Given the description of an element on the screen output the (x, y) to click on. 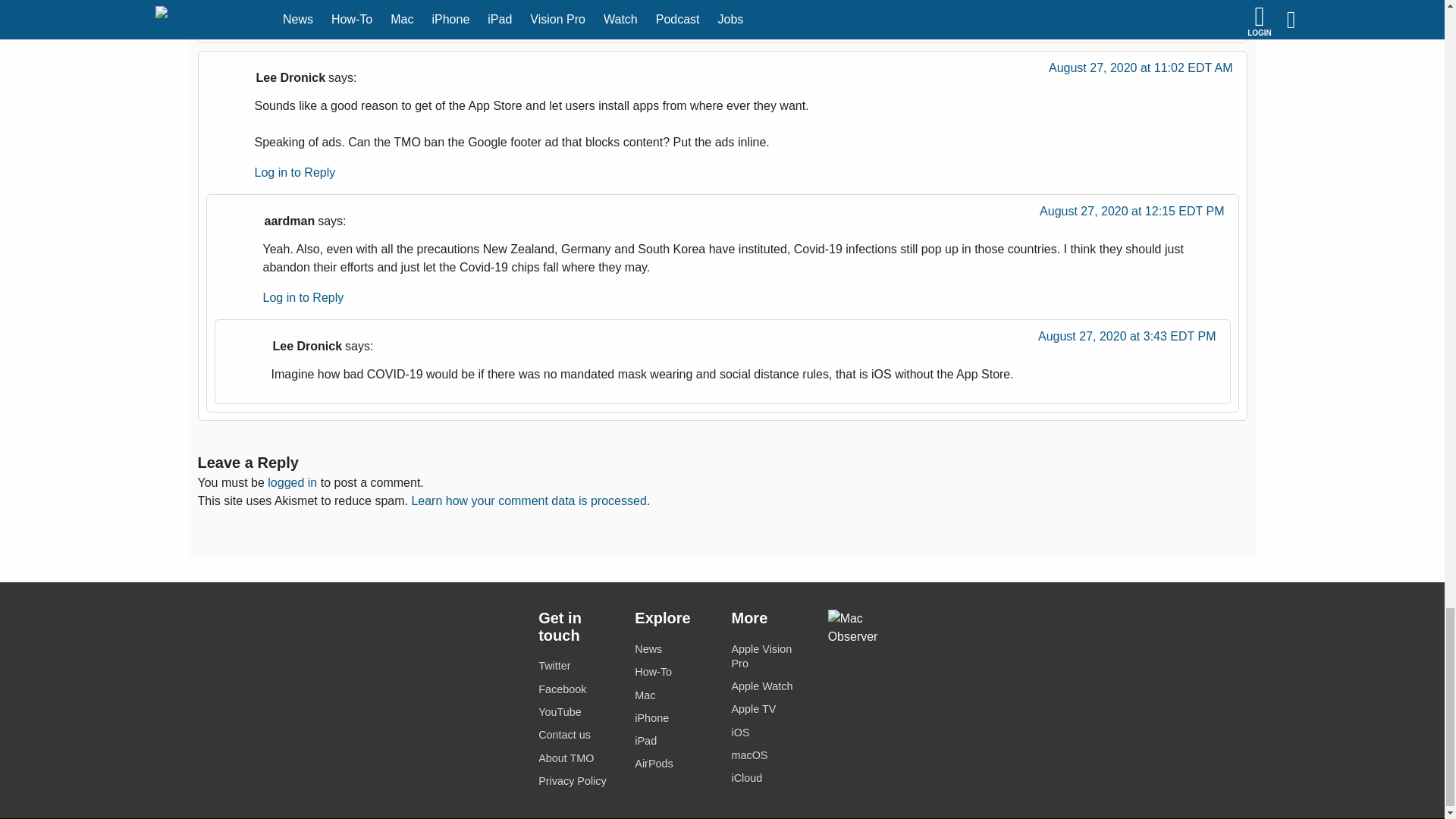
Learn how your comment data is processed (528, 500)
August 27, 2020 at 12:15 EDT PM (1131, 215)
August 27, 2020 at 11:02 EDT AM (1140, 71)
logged in (292, 481)
Twitter (576, 666)
Log in to Reply (302, 297)
Log in to Reply (295, 12)
Facebook (576, 689)
Log in to Reply (295, 172)
August 27, 2020 at 3:43 EDT PM (1126, 339)
